Given the description of an element on the screen output the (x, y) to click on. 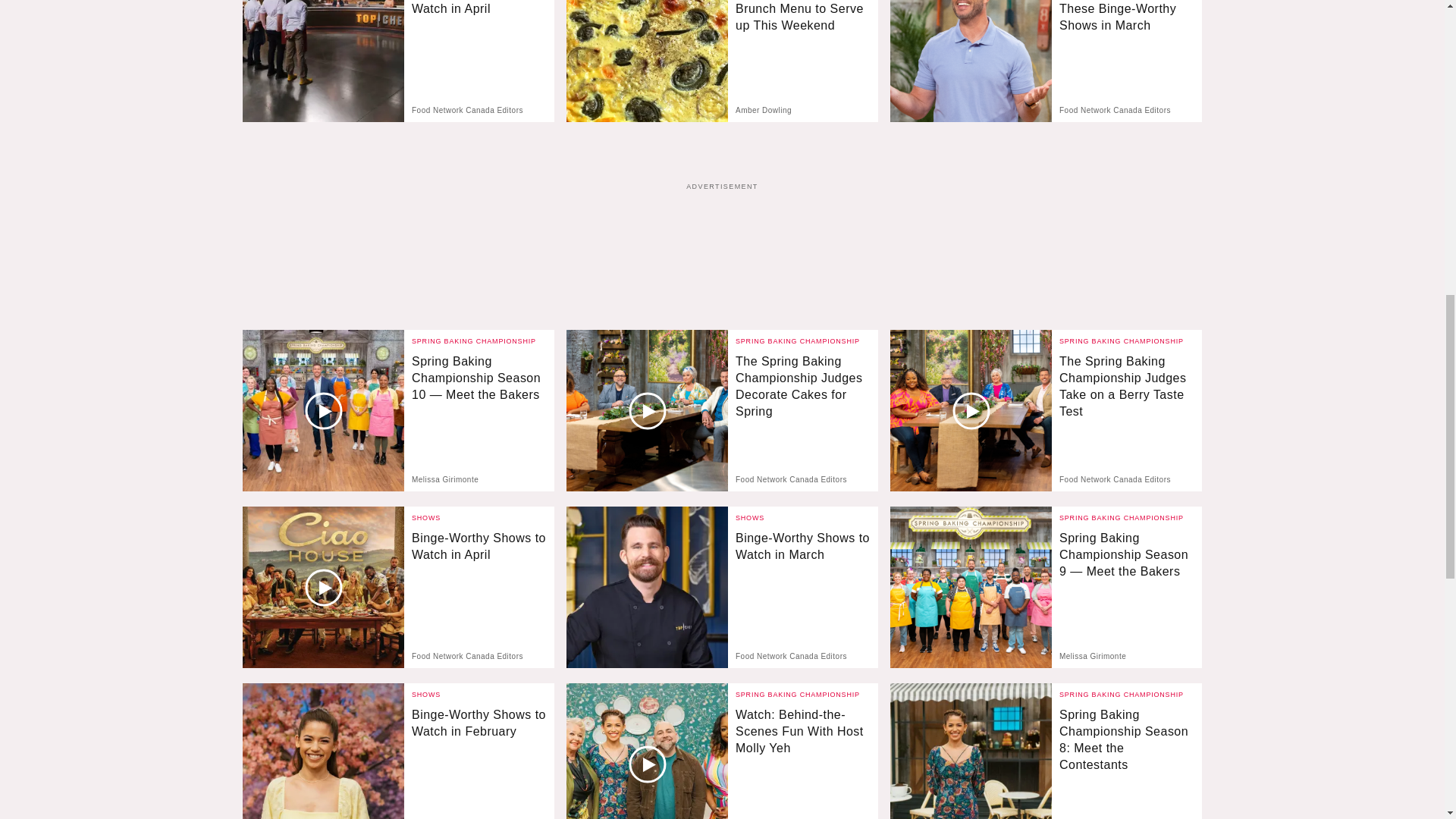
SPRING BAKING CHAMPIONSHIP (797, 340)
A Spring-Inspired Brunch Menu to Serve up This Weekend (802, 25)
SPRING BAKING CHAMPIONSHIP (1121, 340)
A Spring-Inspired Brunch Menu to Serve up This Weekend (647, 61)
Binge-Worthy Shows to Watch in April (323, 61)
SPRING BAKING CHAMPIONSHIP (473, 340)
Spring Into Action With These Binge-Worthy Shows in March (1126, 25)
Binge-Worthy Shows to Watch in April (479, 25)
